Given the description of an element on the screen output the (x, y) to click on. 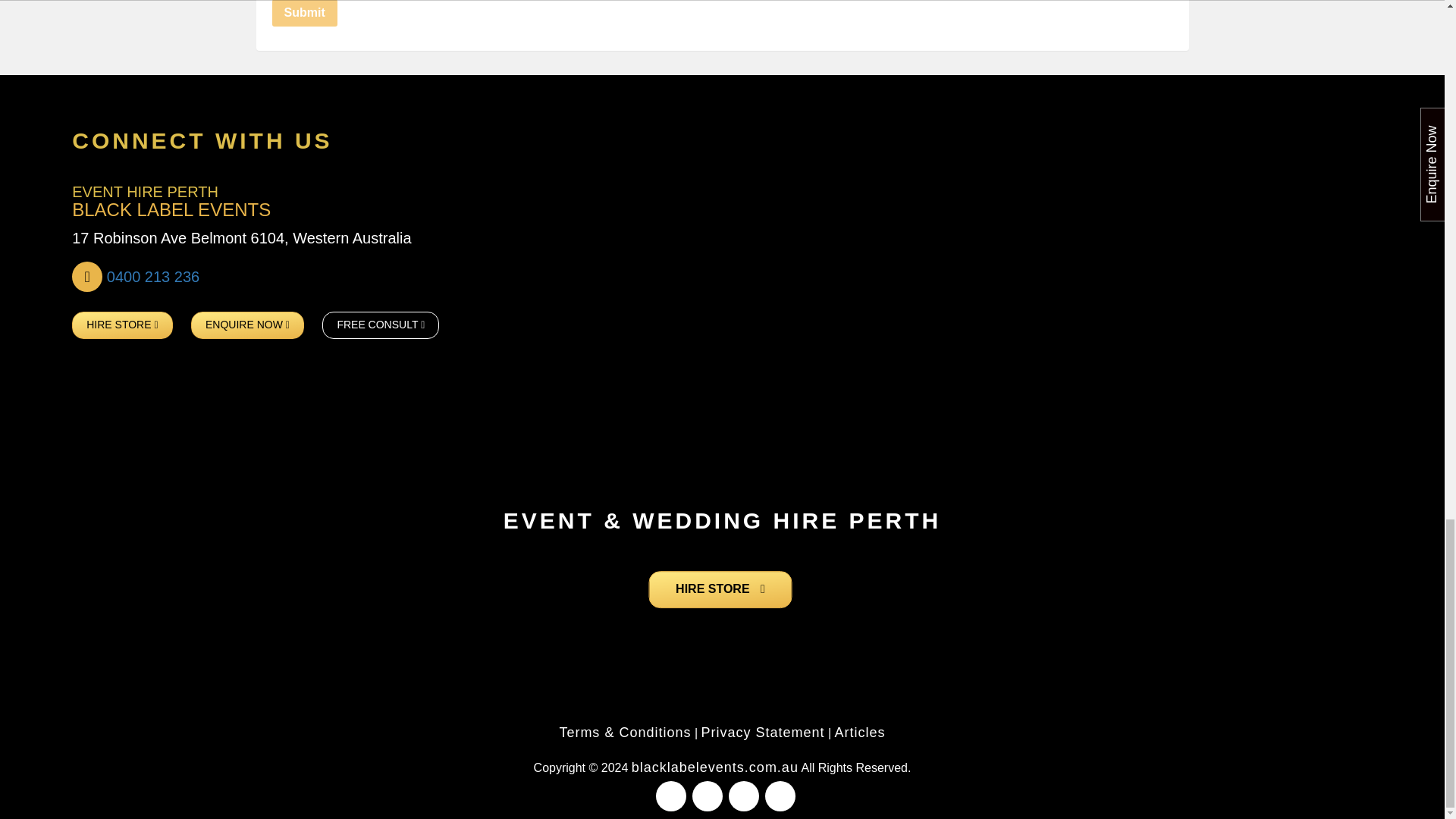
Submit (303, 13)
